Given the description of an element on the screen output the (x, y) to click on. 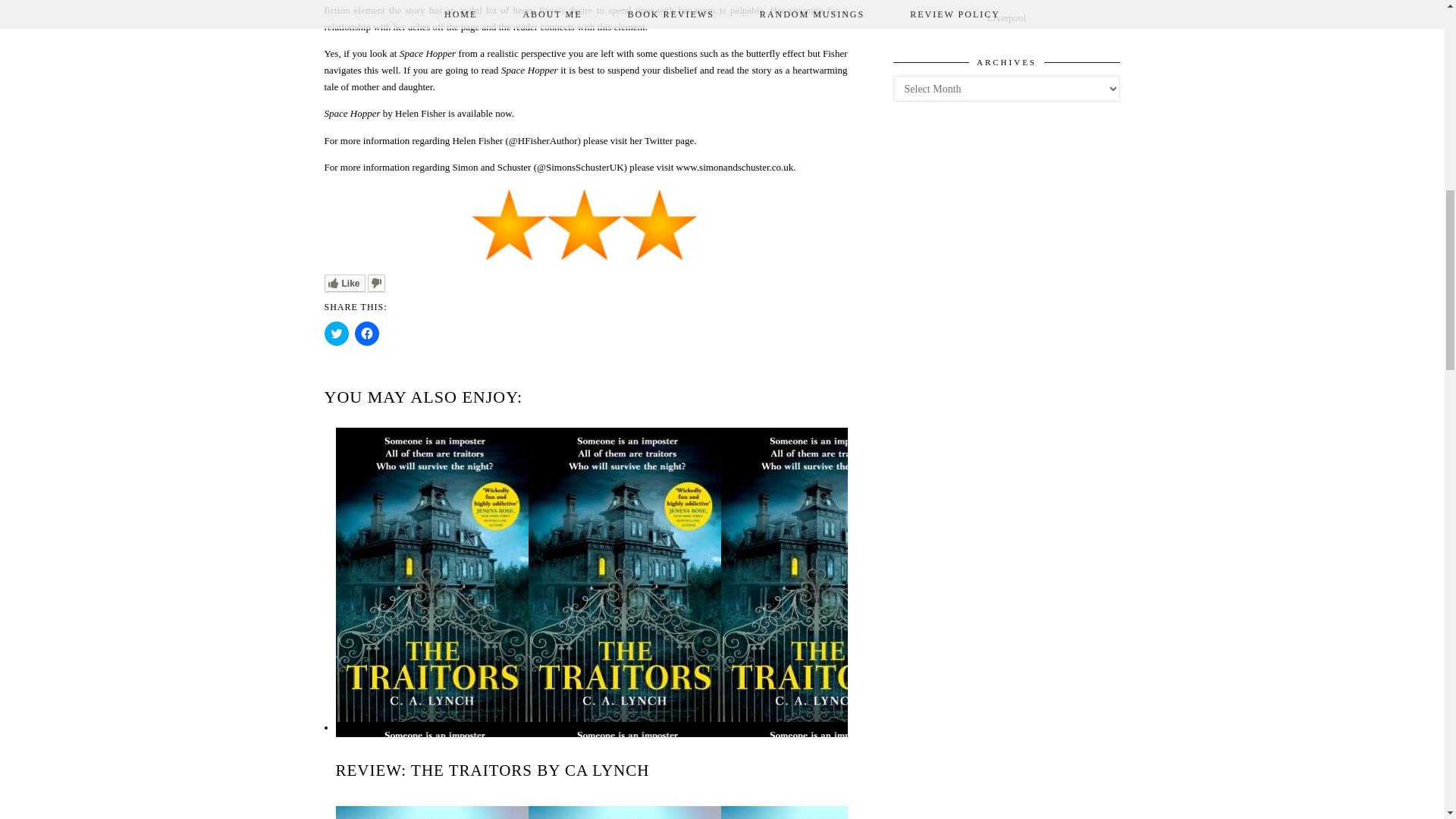
Review: The Traitors by CA Lynch (491, 770)
Review: The Traitors by CA Lynch (562, 727)
www.simonandschuster.co.uk (735, 166)
Click to share on Facebook (366, 333)
REVIEW: THE TRAITORS BY CA LYNCH (491, 770)
Click to share on Twitter (336, 333)
